Given the description of an element on the screen output the (x, y) to click on. 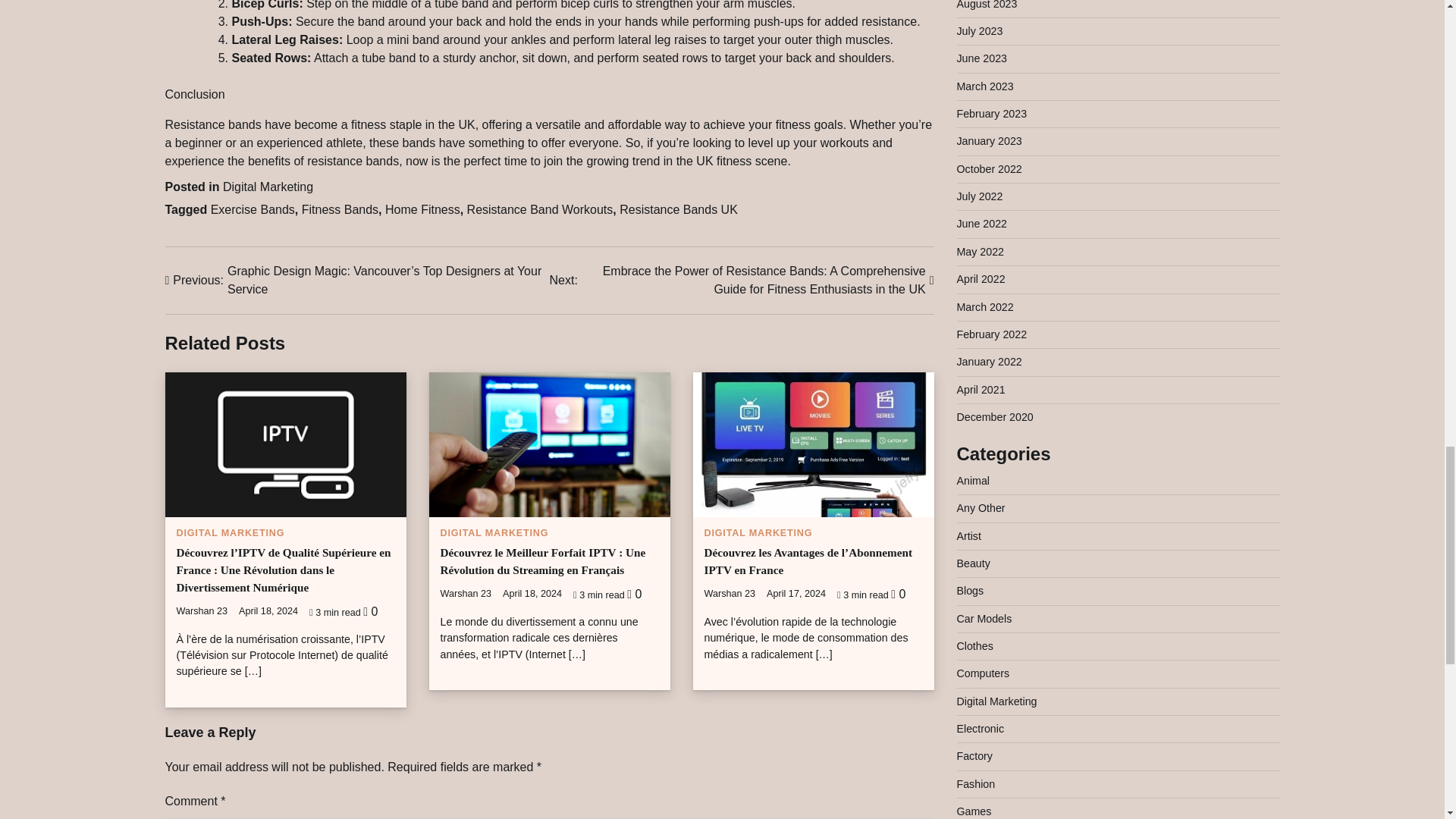
DIGITAL MARKETING (229, 532)
Resistance Bands UK (679, 209)
Fitness Bands (339, 209)
Warshan 23 (201, 611)
Home Fitness (422, 209)
Exercise Bands (253, 209)
DIGITAL MARKETING (757, 532)
Digital Marketing (267, 186)
DIGITAL MARKETING (493, 532)
